Given the description of an element on the screen output the (x, y) to click on. 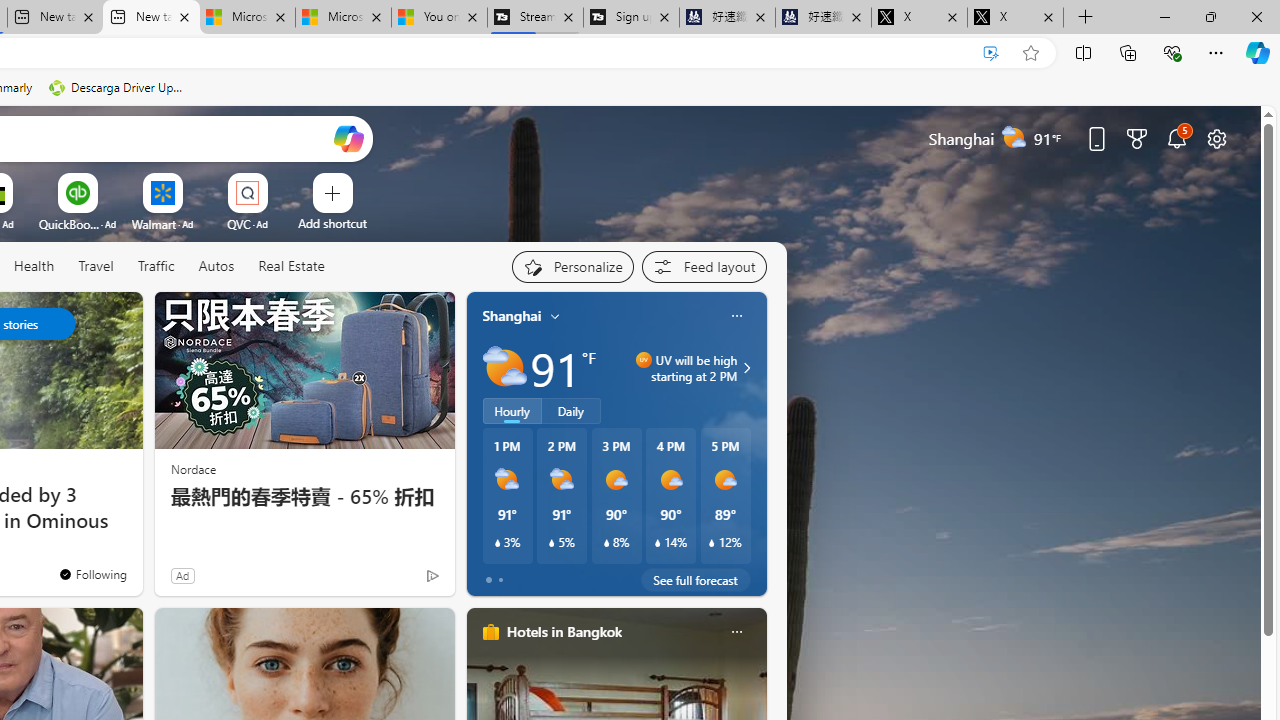
Hourly (511, 411)
Descarga Driver Updater (118, 88)
UV will be high starting at 2 PM (744, 367)
Partly sunny (504, 368)
